Given the description of an element on the screen output the (x, y) to click on. 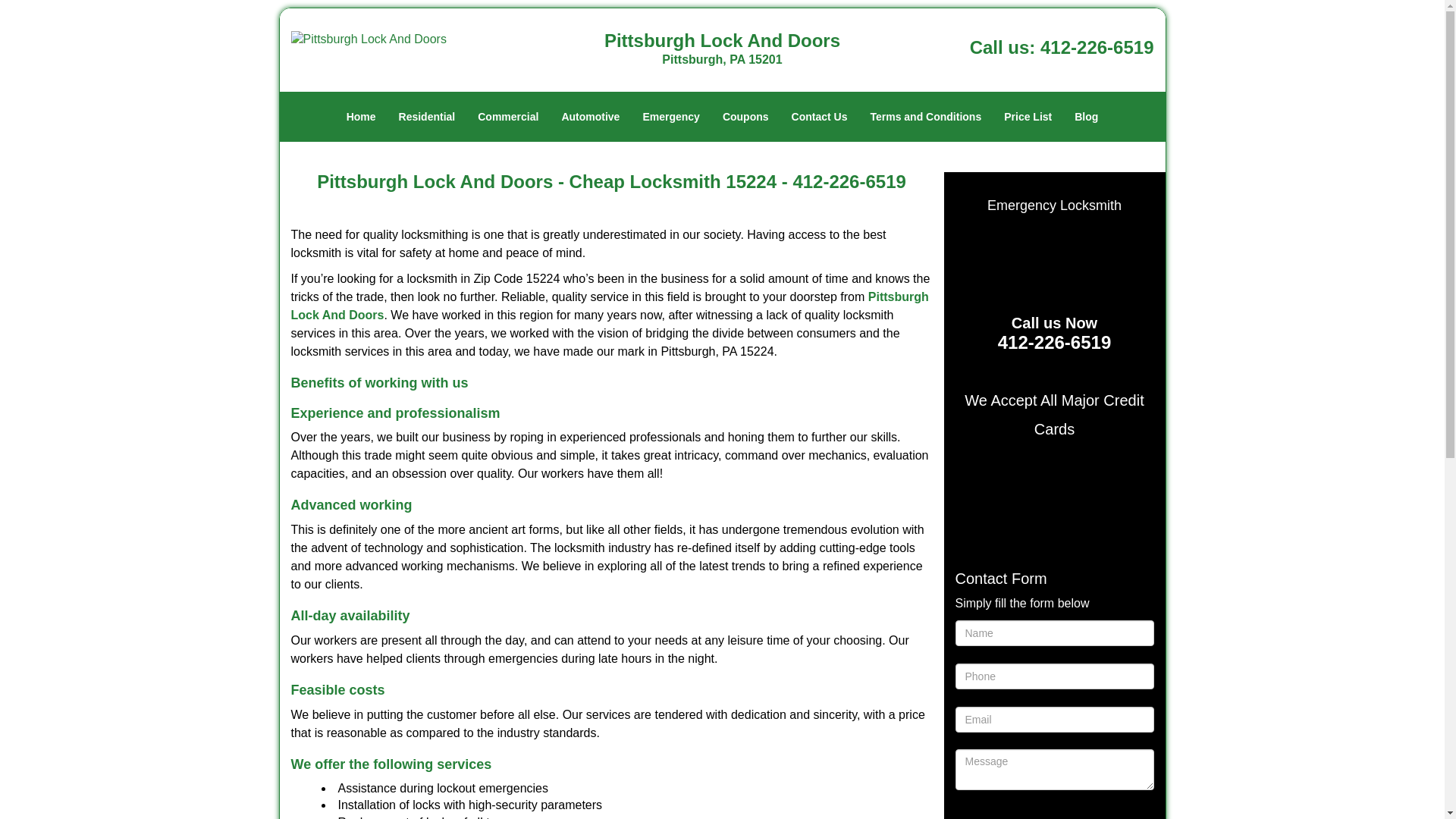
412-226-6519 (848, 181)
Contact Us (819, 116)
Emergency Locksmith (1054, 206)
Name Field required (1054, 632)
Emergency (670, 116)
Residential (427, 116)
Price List (1027, 116)
Automotive (590, 116)
Email Field required (1054, 719)
Home (360, 116)
412-226-6519 (1097, 46)
412-226-6519 (1053, 342)
Blog (1085, 116)
Pittsburgh Lock And Doors (609, 305)
Coupons (745, 116)
